Given the description of an element on the screen output the (x, y) to click on. 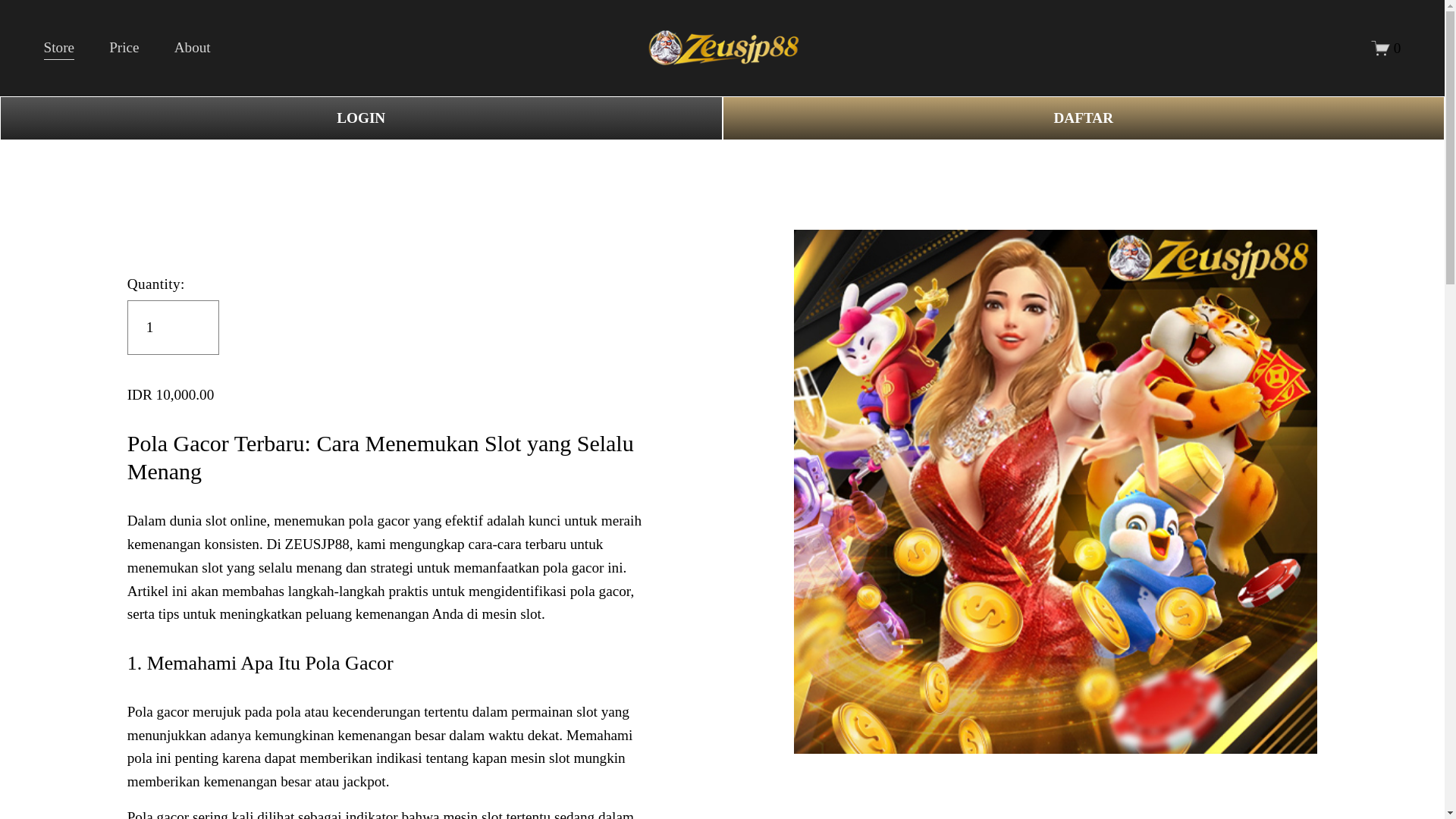
LOGIN (361, 118)
1 (173, 327)
0 (1385, 47)
About (192, 48)
Price (123, 48)
Store (59, 48)
